Given the description of an element on the screen output the (x, y) to click on. 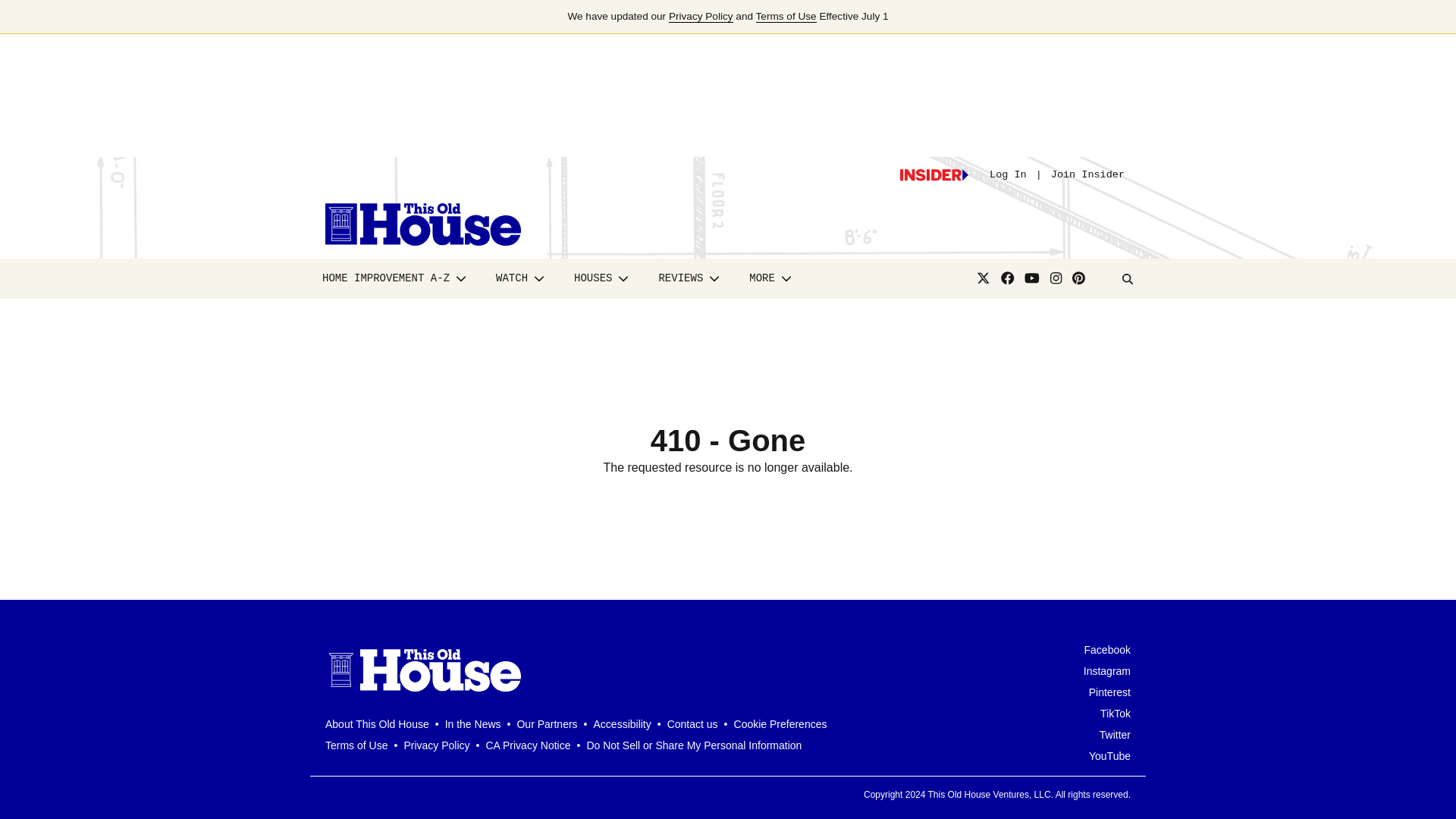
Join Insider (1087, 174)
Terms of Use (785, 16)
Log In (1008, 174)
Privacy Policy (700, 16)
Log in or sign up (933, 174)
